Given the description of an element on the screen output the (x, y) to click on. 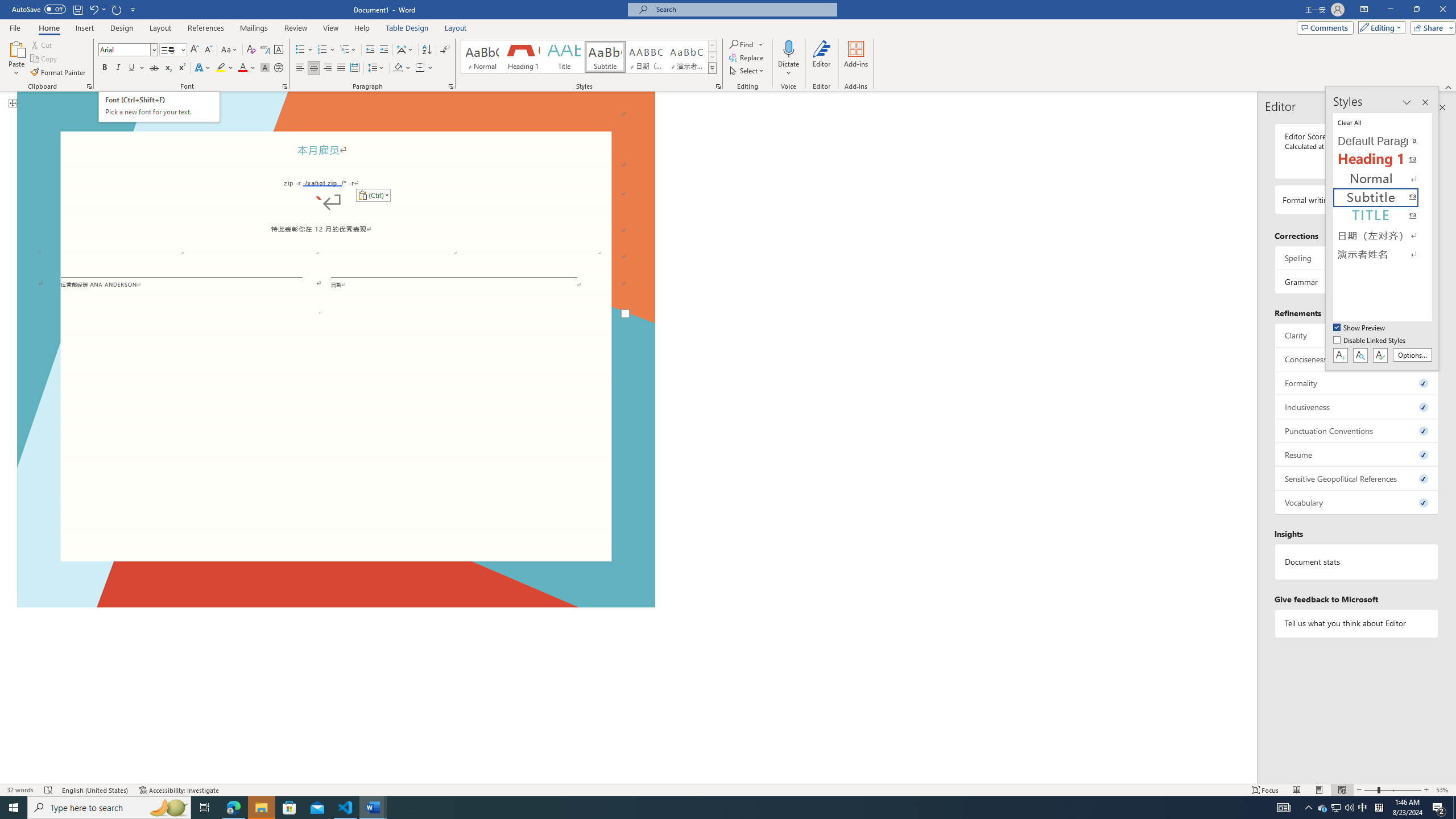
Normal (1382, 178)
Default Paragraph Font (1382, 140)
Formality, 0 issues. Press space or enter to review items. (1356, 382)
